Given the description of an element on the screen output the (x, y) to click on. 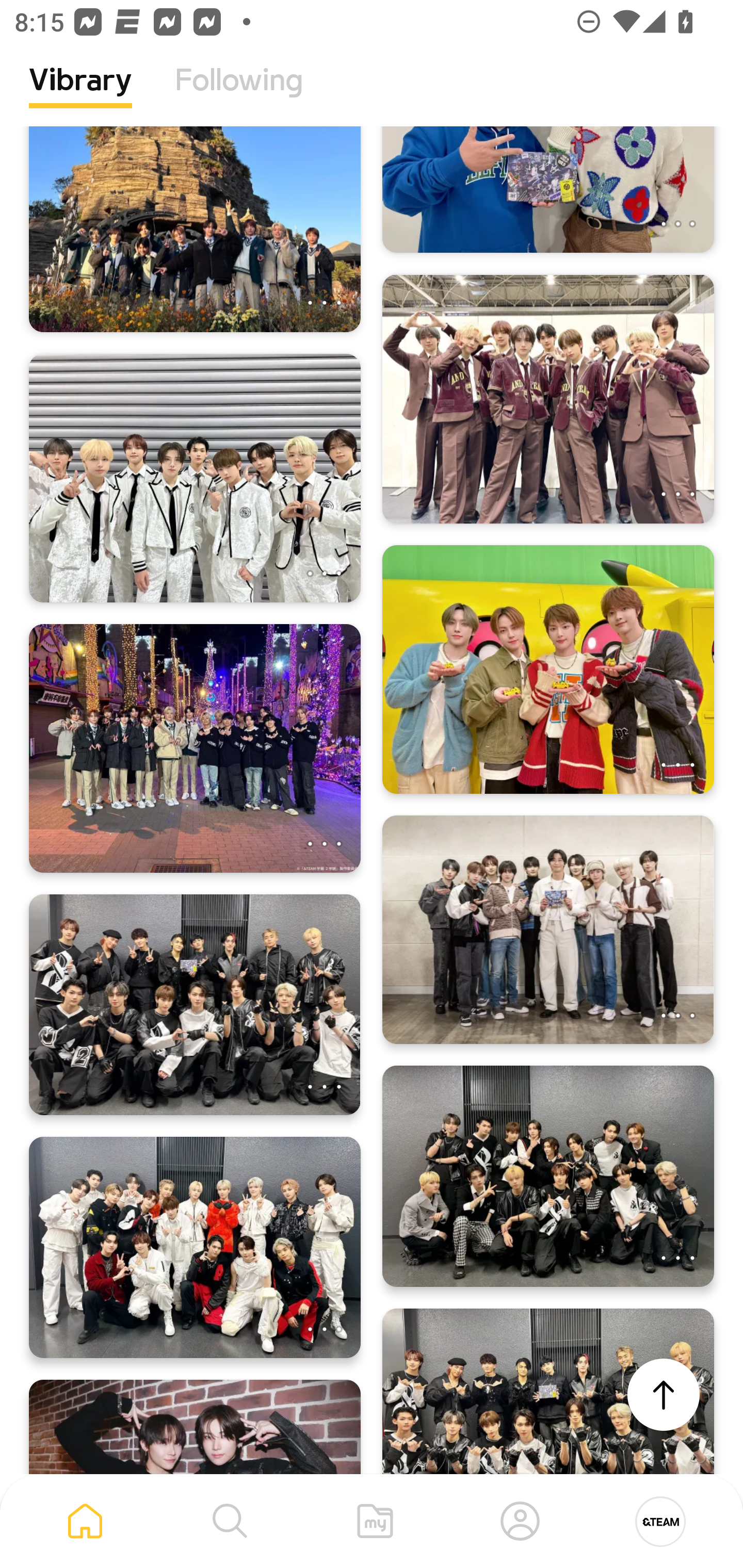
Vibrary (80, 95)
Following (239, 95)
